Given the description of an element on the screen output the (x, y) to click on. 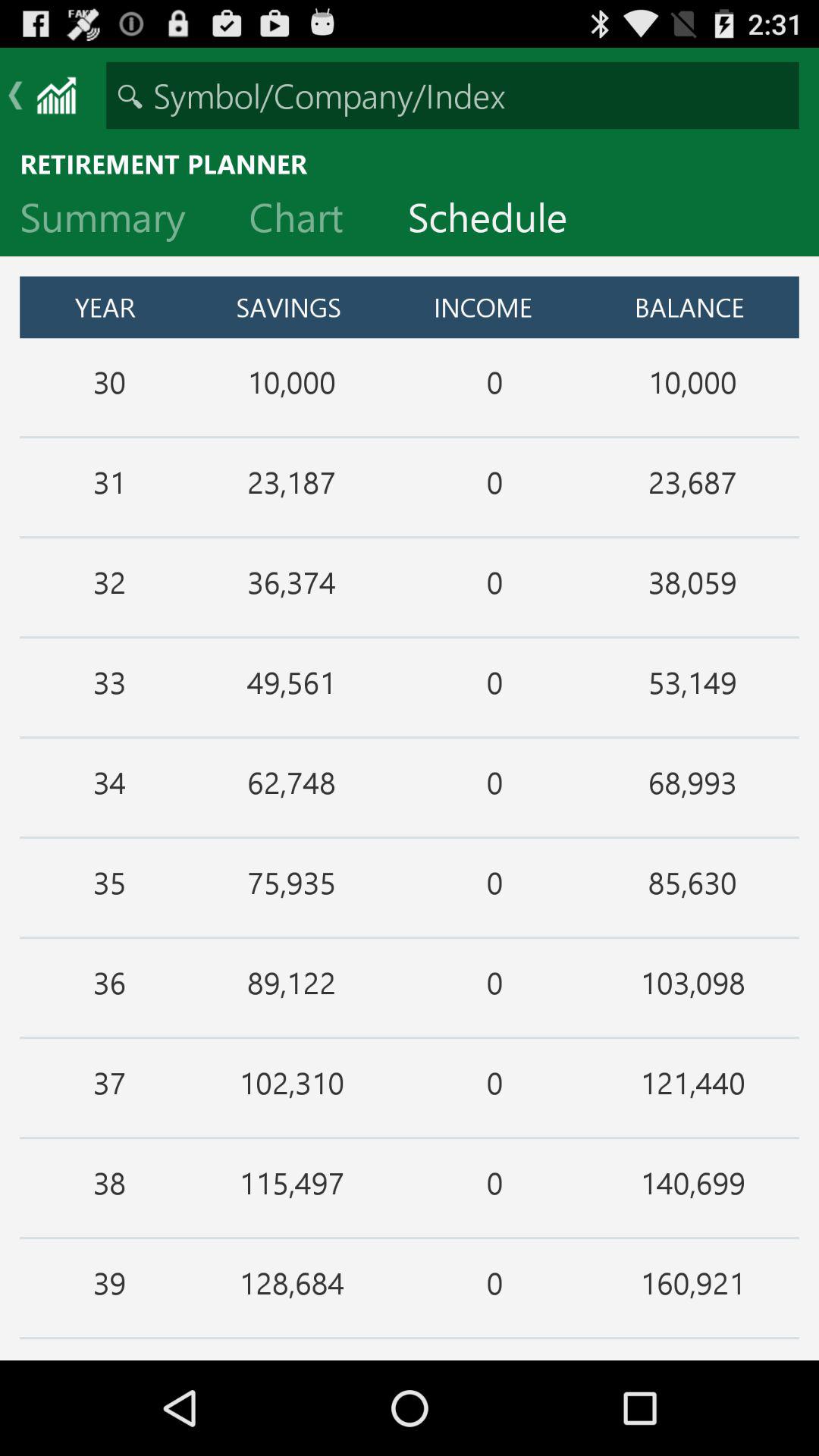
enter symbol or company (452, 95)
